Given the description of an element on the screen output the (x, y) to click on. 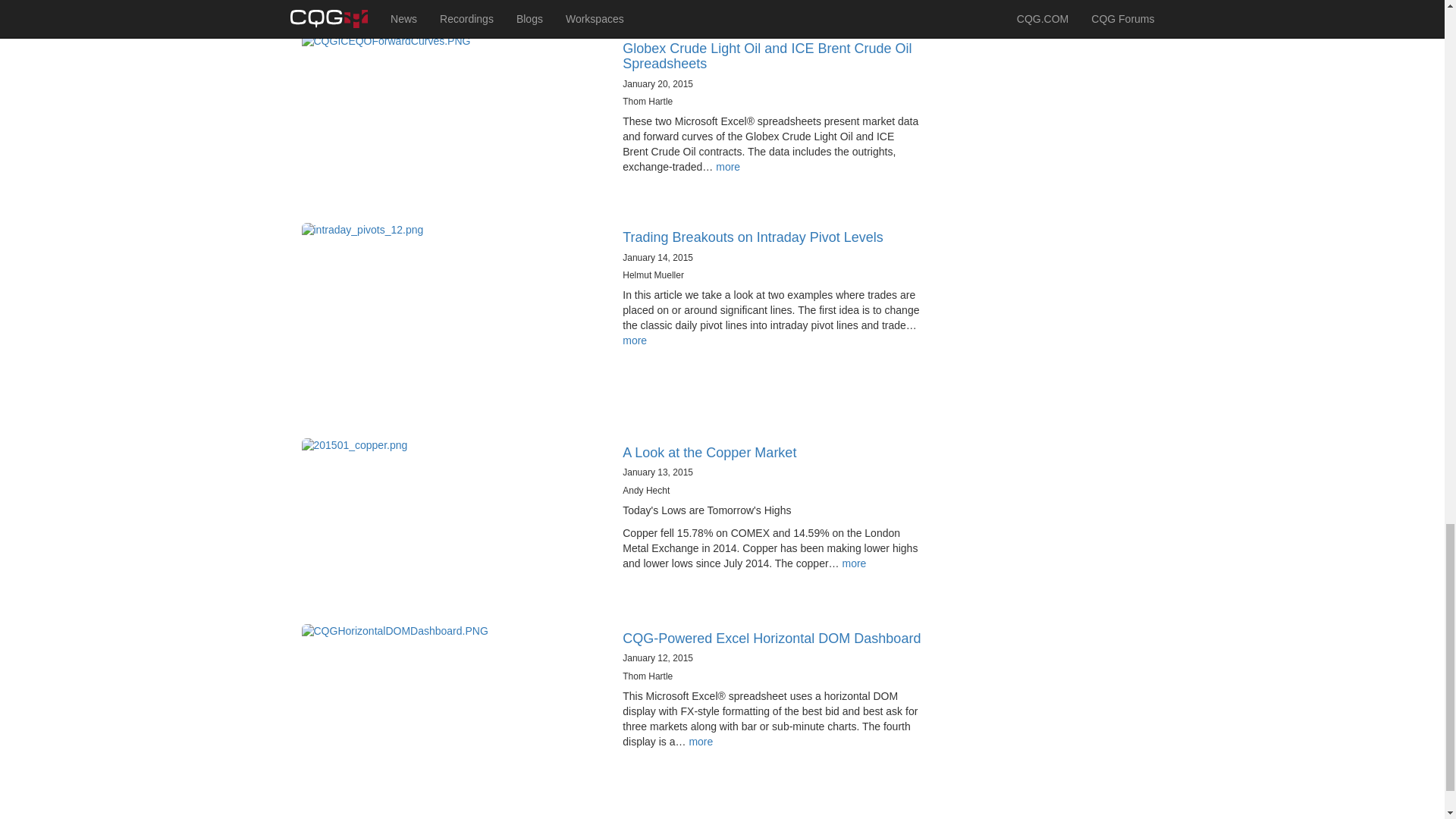
more (634, 340)
Globex Crude Light Oil and ICE Brent Crude Oil Spreadsheets (767, 55)
more (727, 166)
A Look at the Copper Market (709, 452)
Trading Breakouts on Intraday Pivot Levels (753, 237)
more (853, 563)
